Given the description of an element on the screen output the (x, y) to click on. 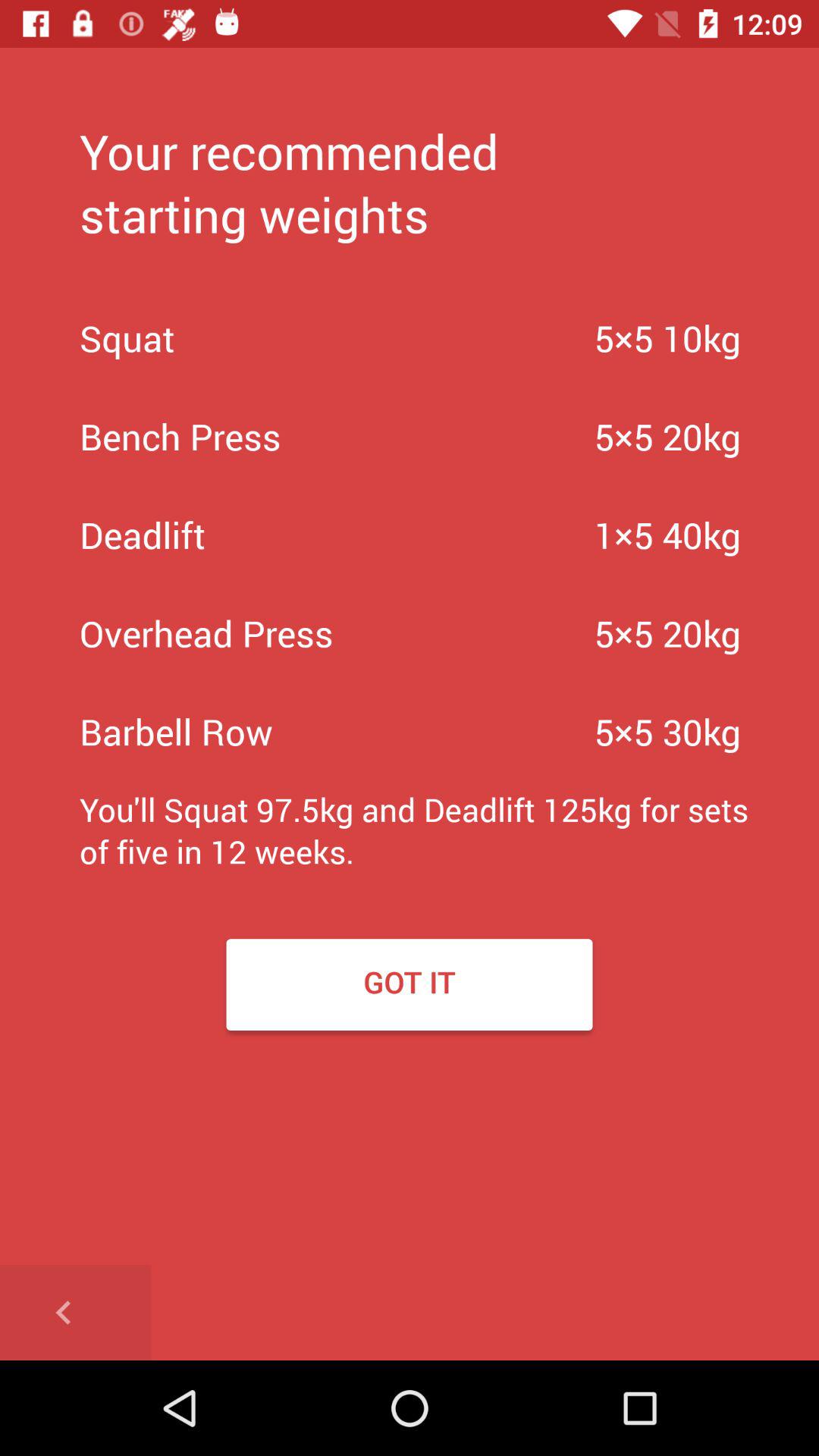
go back (75, 1312)
